Given the description of an element on the screen output the (x, y) to click on. 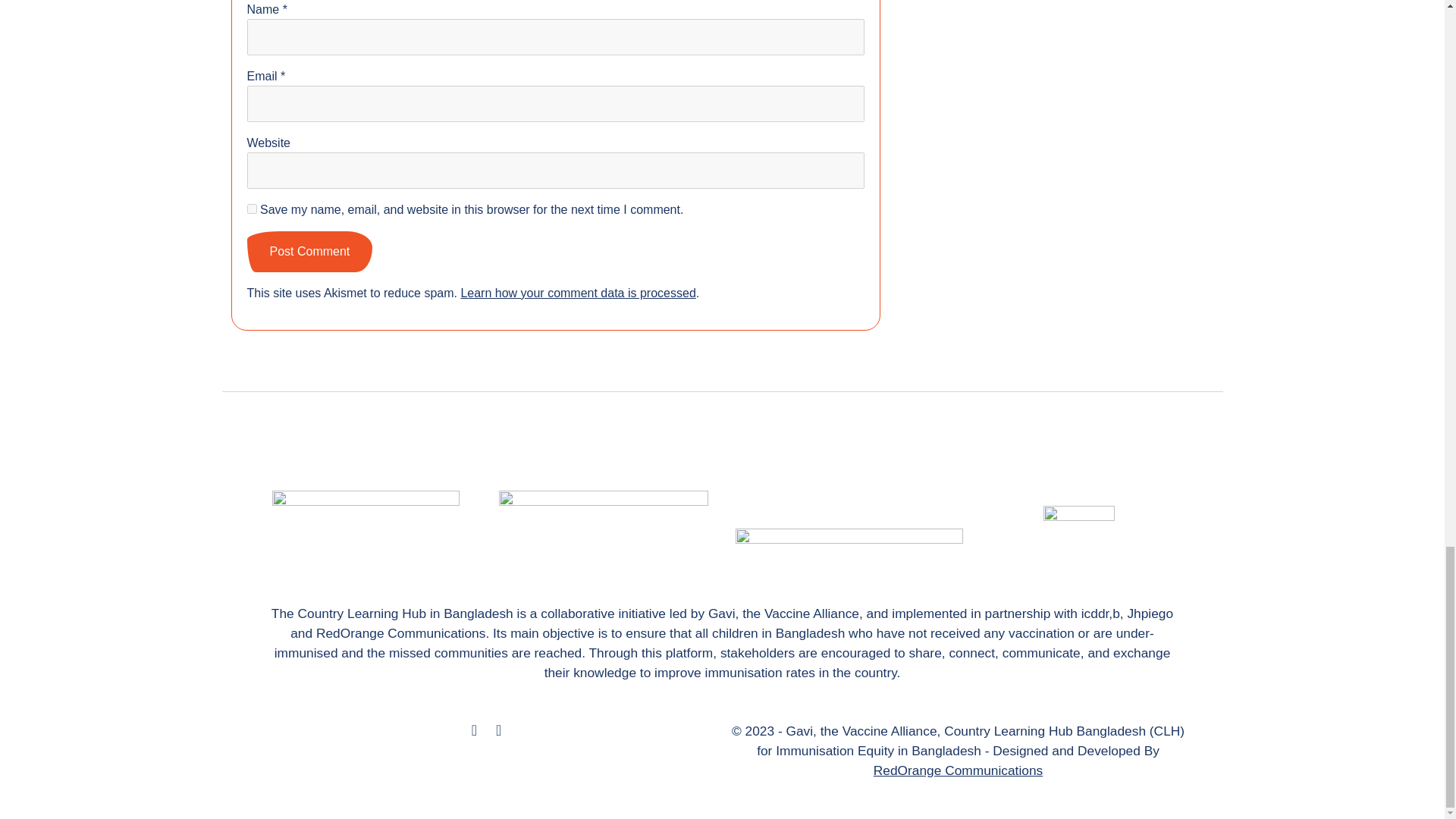
Learn how your comment data is processed (577, 292)
Post Comment (309, 250)
Post Comment (309, 250)
yes (252, 208)
